Given the description of an element on the screen output the (x, y) to click on. 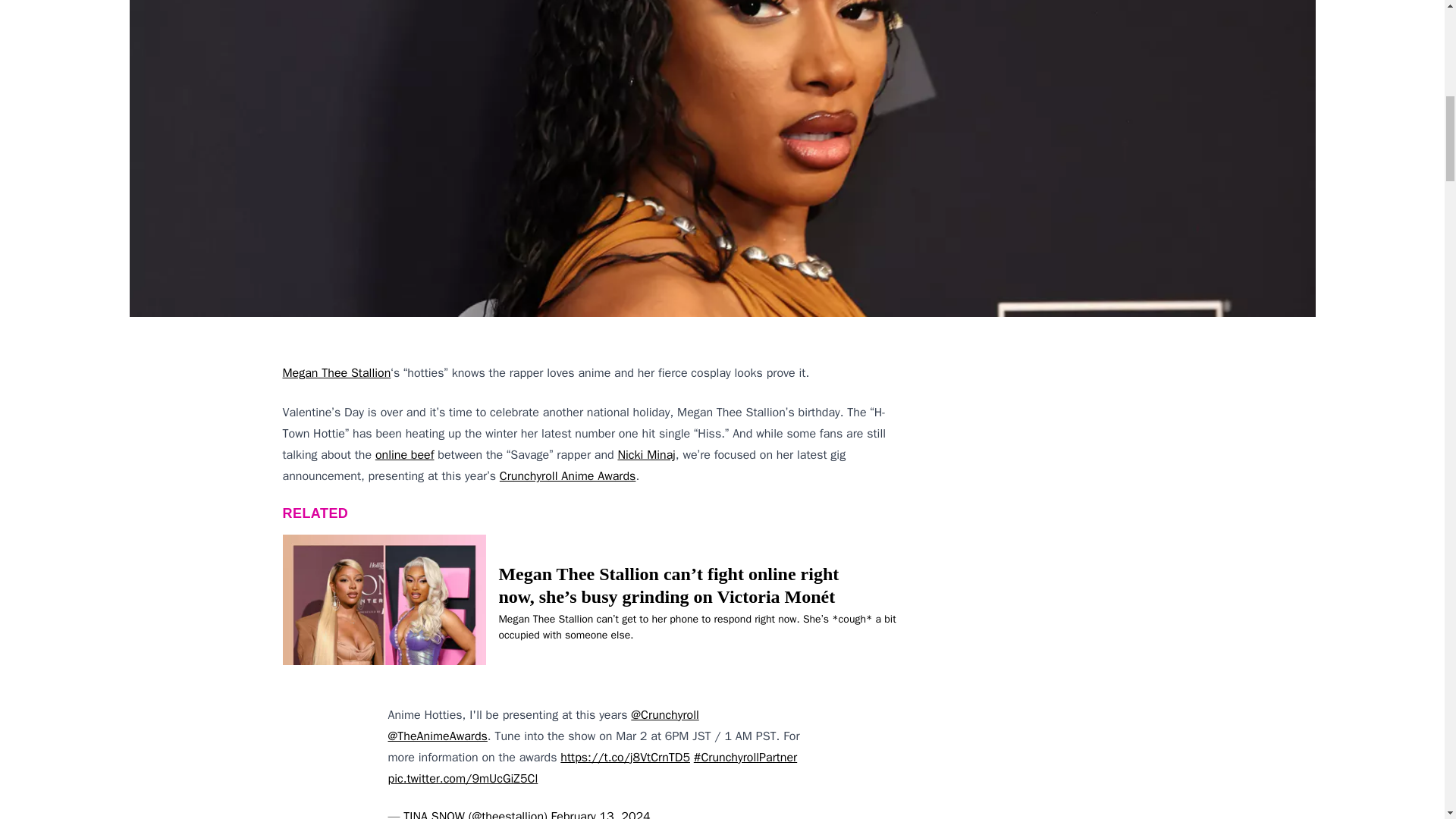
Crunchyroll Anime Awards (567, 476)
Nicki Minaj (646, 454)
February 13, 2024 (600, 813)
online beef (404, 454)
Megan Thee Stallion (336, 372)
